Given the description of an element on the screen output the (x, y) to click on. 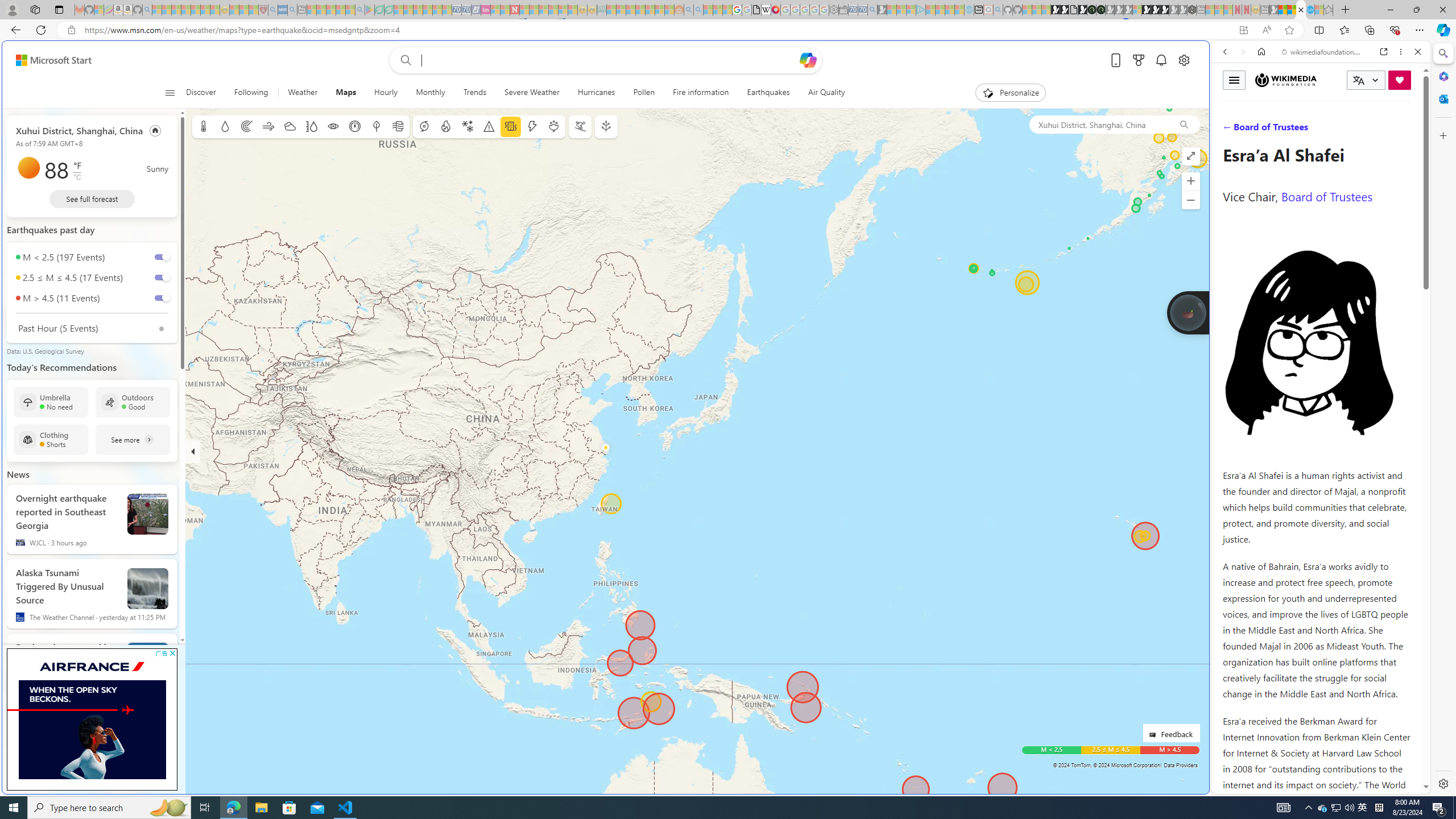
Maps (345, 92)
World - MSN (727, 389)
Zoom in (1190, 180)
Fire information (700, 92)
Maps (345, 92)
wikimediafoundation.org (1323, 51)
Following (251, 92)
The Weather Channel - MSN - Sleeping (175, 9)
Latest Politics News & Archive | Newsweek.com - Sleeping (514, 9)
